Given the description of an element on the screen output the (x, y) to click on. 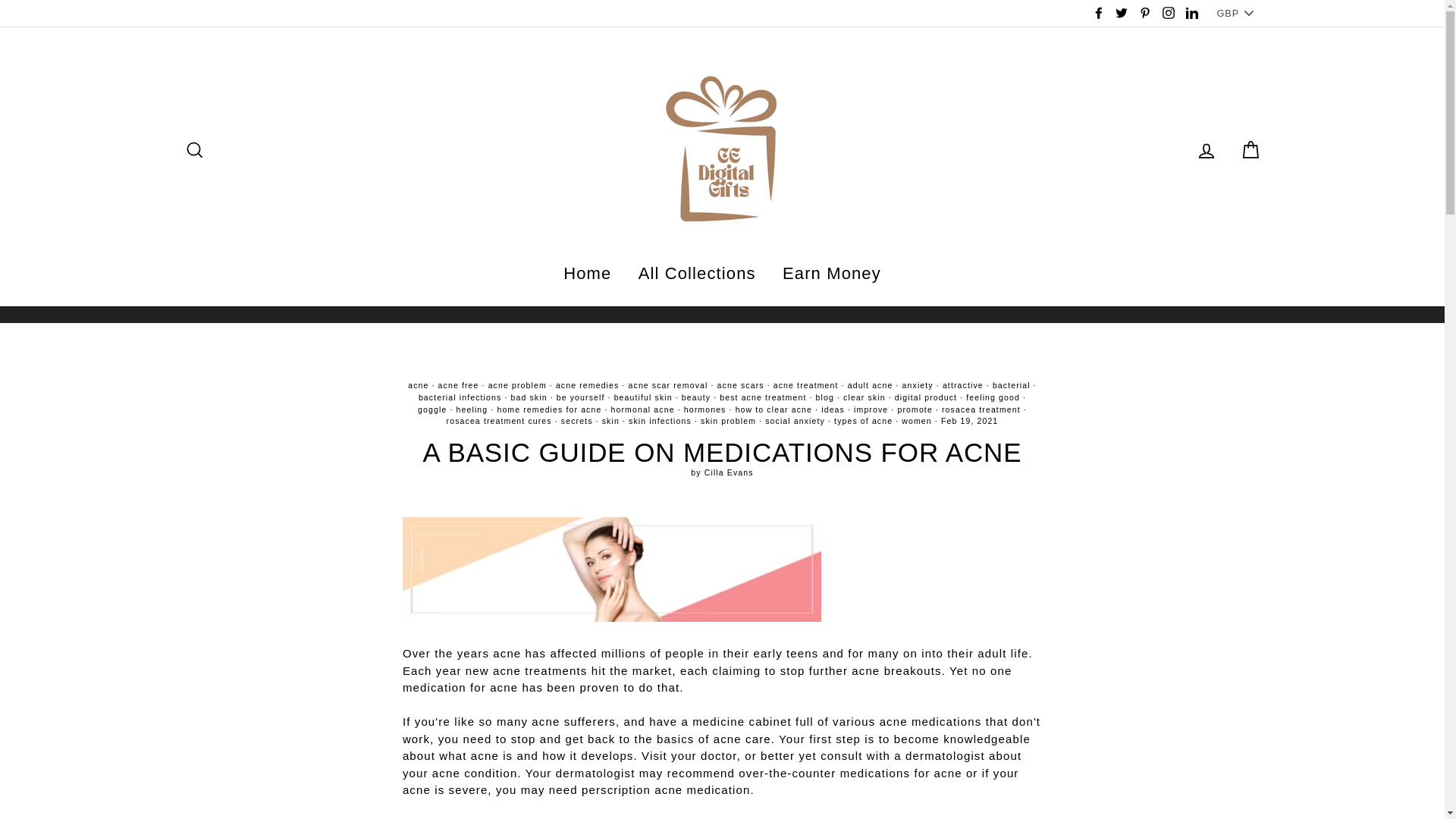
acne treatment (805, 384)
All Collections (697, 272)
bacterial (1011, 384)
acne scars (740, 384)
Instagram (1167, 13)
adult acne (870, 384)
CEdigitalgifts  on Pinterest (1144, 13)
anxiety (917, 384)
Cart (1249, 148)
acne remedies (588, 384)
Pinterest (1144, 13)
acne scar removal (667, 384)
CEdigitalgifts  on Facebook (1098, 13)
Twitter (1121, 13)
acne free (458, 384)
